Given the description of an element on the screen output the (x, y) to click on. 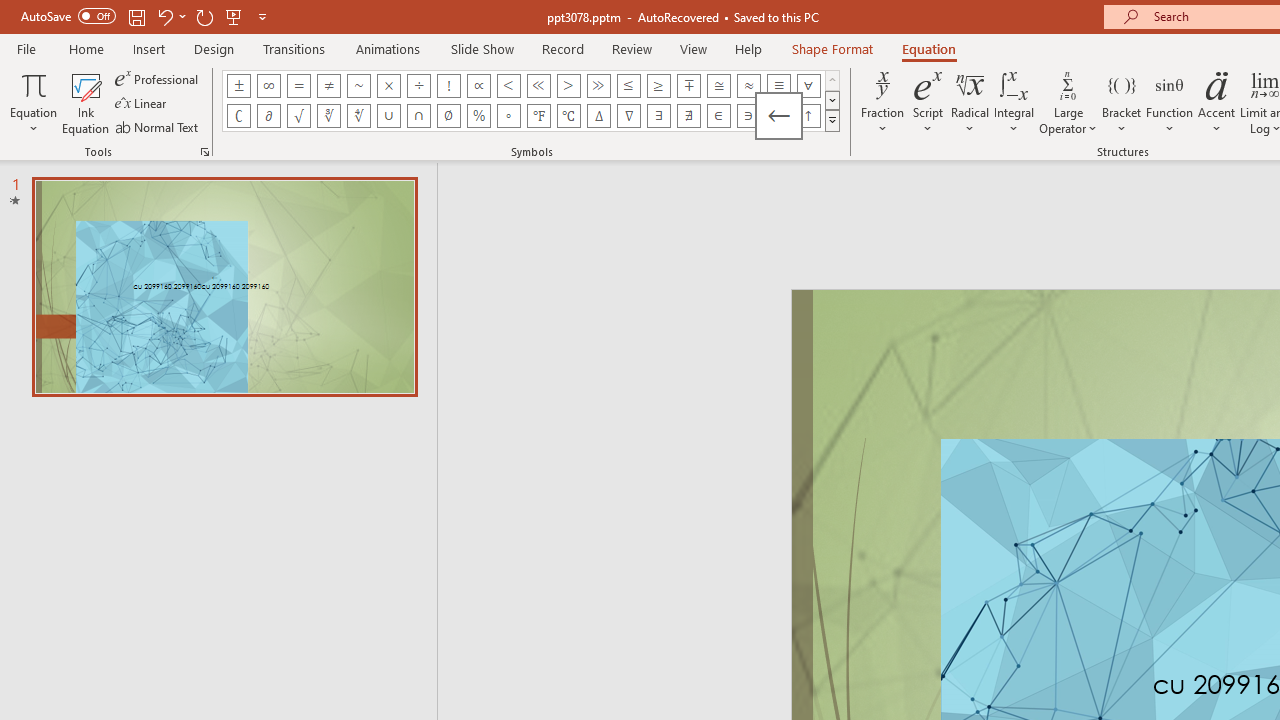
Equation Symbol Proportional To (478, 85)
Equation Symbol Identical To (778, 85)
Equation Symbol Much Greater Than (598, 85)
Script (927, 102)
Equation Symbol Approximately (358, 85)
Equation Symbol Minus Plus (689, 85)
Equation Symbol Not Equal To (328, 85)
Equation Symbol Multiplication Sign (388, 85)
Bracket (1121, 102)
Fraction (882, 102)
Equation Symbol Less Than or Equal To (628, 85)
